Given the description of an element on the screen output the (x, y) to click on. 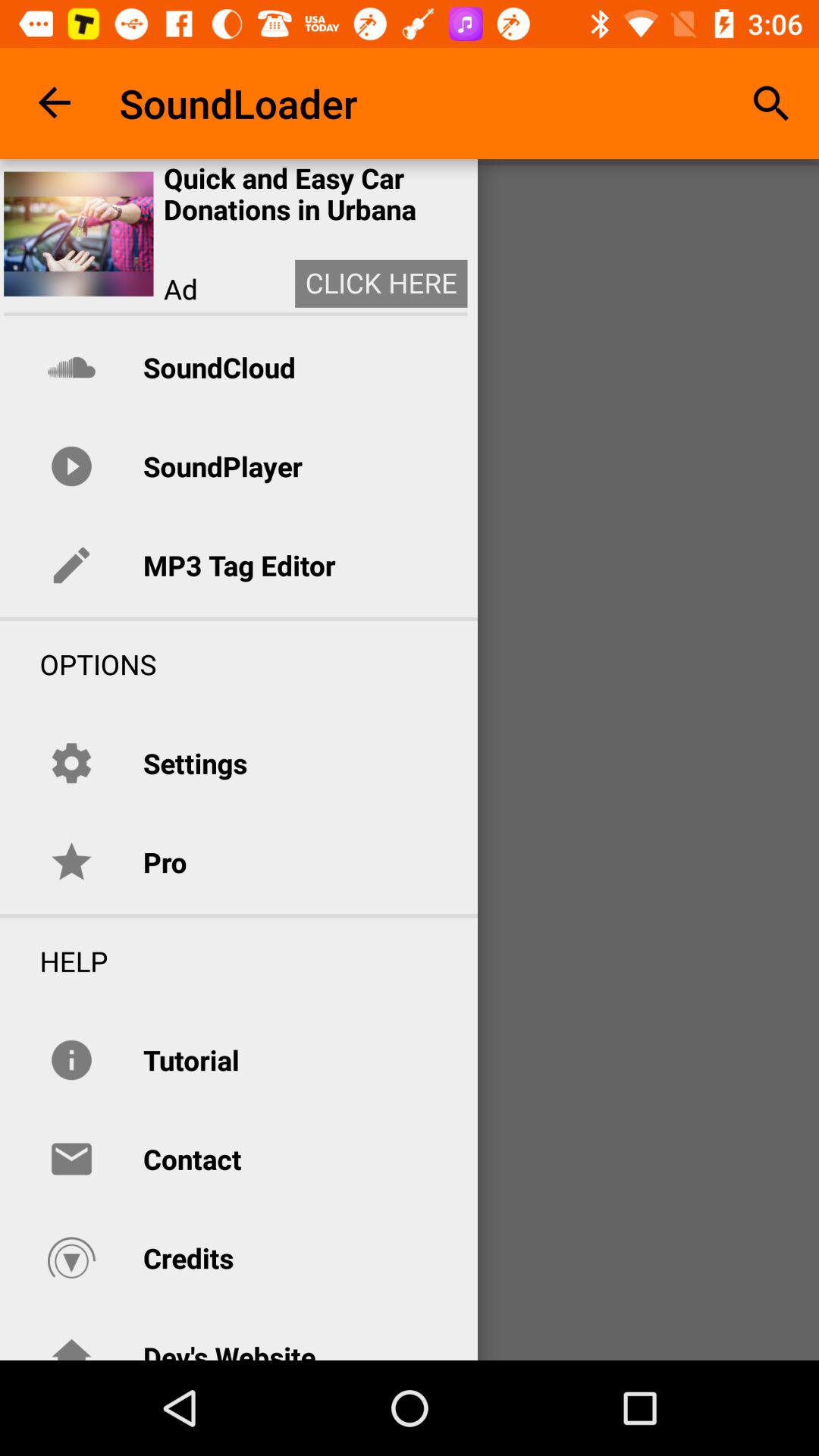
tap the icon to the right of ad (381, 283)
